Given the description of an element on the screen output the (x, y) to click on. 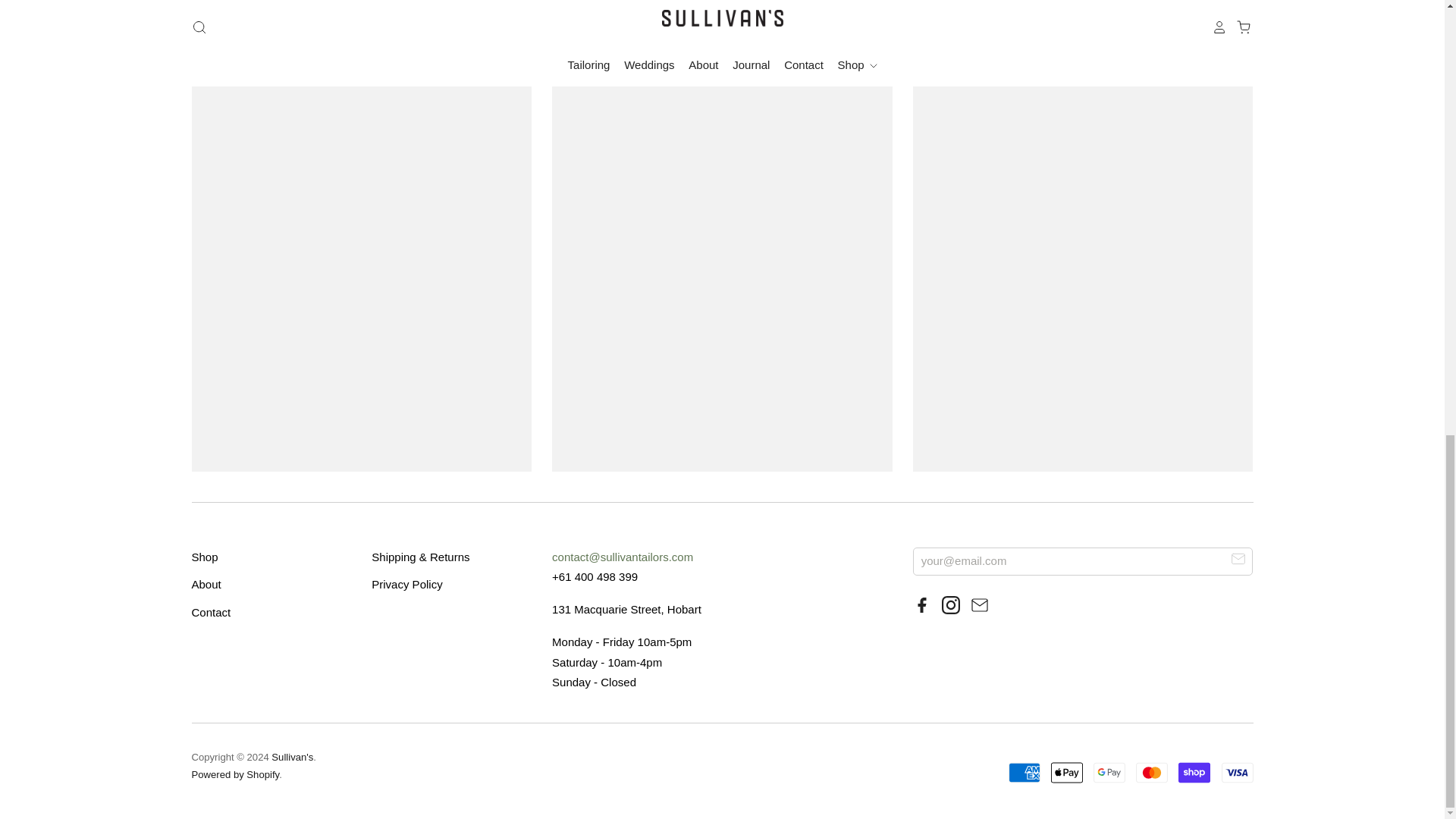
Visa (1236, 772)
American Express (1025, 772)
Google Pay (1109, 772)
Mastercard (1151, 772)
Apple Pay (1067, 772)
Shop Pay (1193, 772)
